Given the description of an element on the screen output the (x, y) to click on. 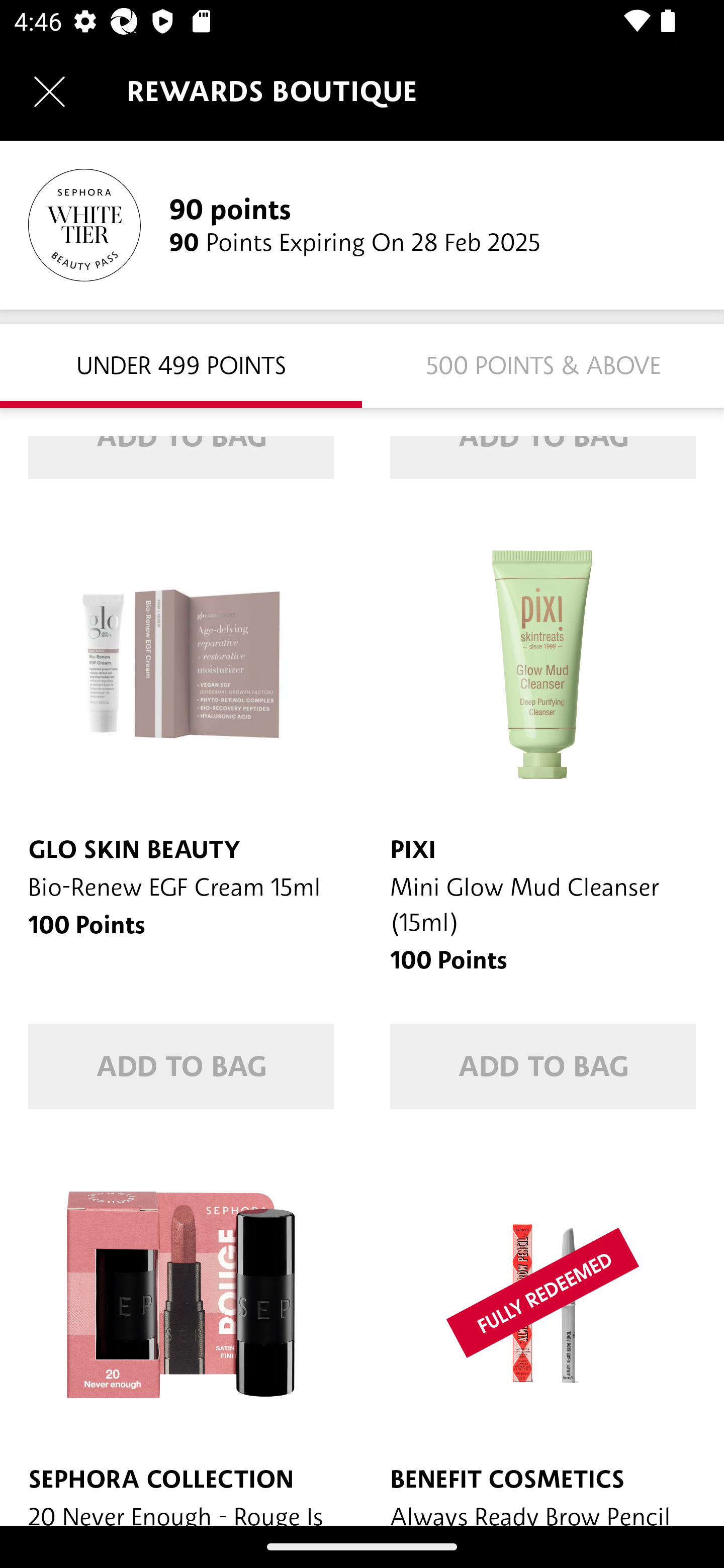
Navigate up (49, 91)
500 Points & Above 500 POINTS & ABOVE (543, 365)
ADD TO BAG (180, 1065)
ADD TO BAG (542, 1065)
